Given the description of an element on the screen output the (x, y) to click on. 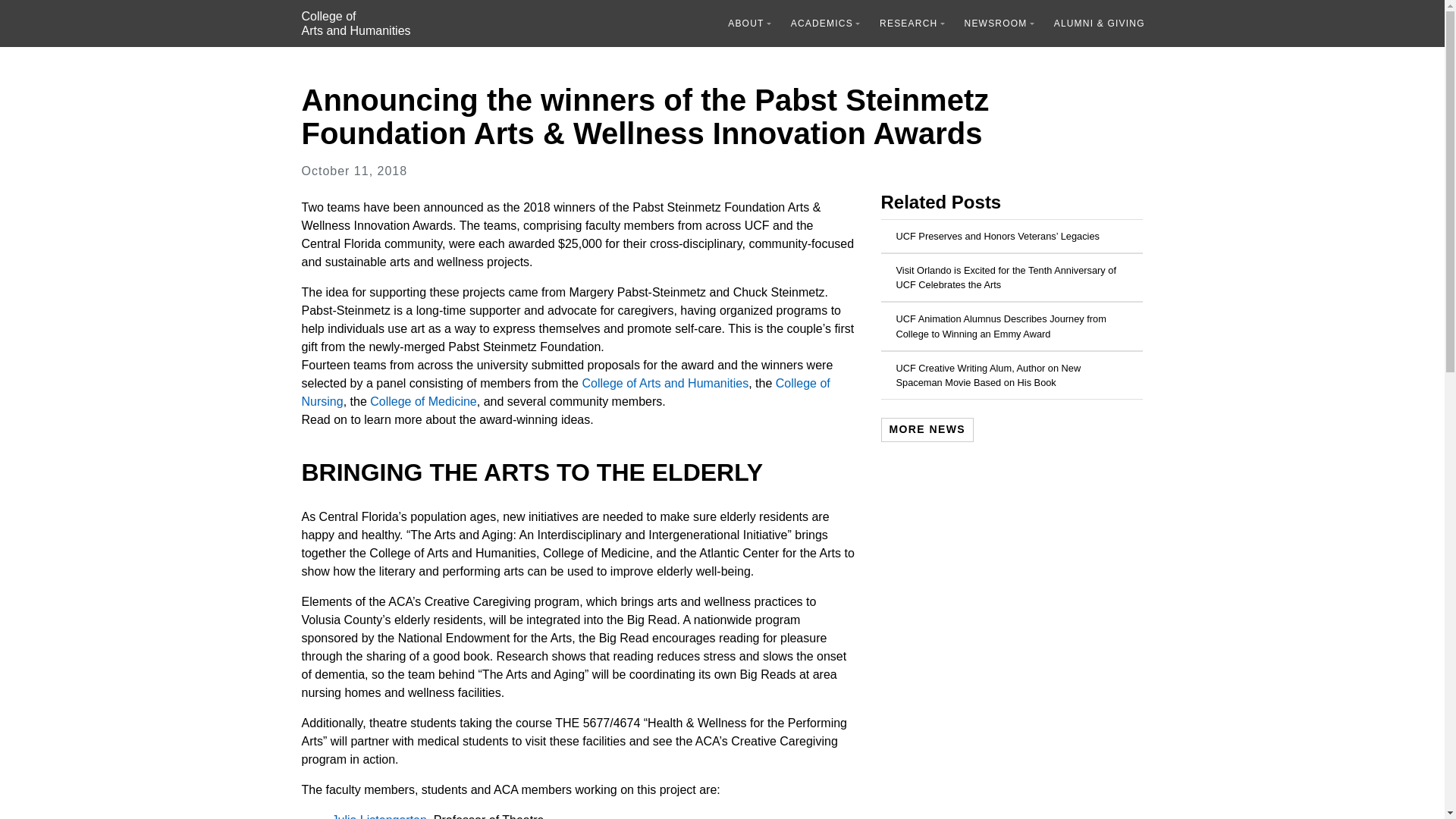
ABOUT (748, 23)
College of Medicine (423, 400)
College of Nursing (355, 23)
ACADEMICS (565, 391)
Julia Listengarten (824, 23)
RESEARCH (378, 816)
NEWSROOM (911, 23)
 College of Arts and Humanities (999, 23)
